Given the description of an element on the screen output the (x, y) to click on. 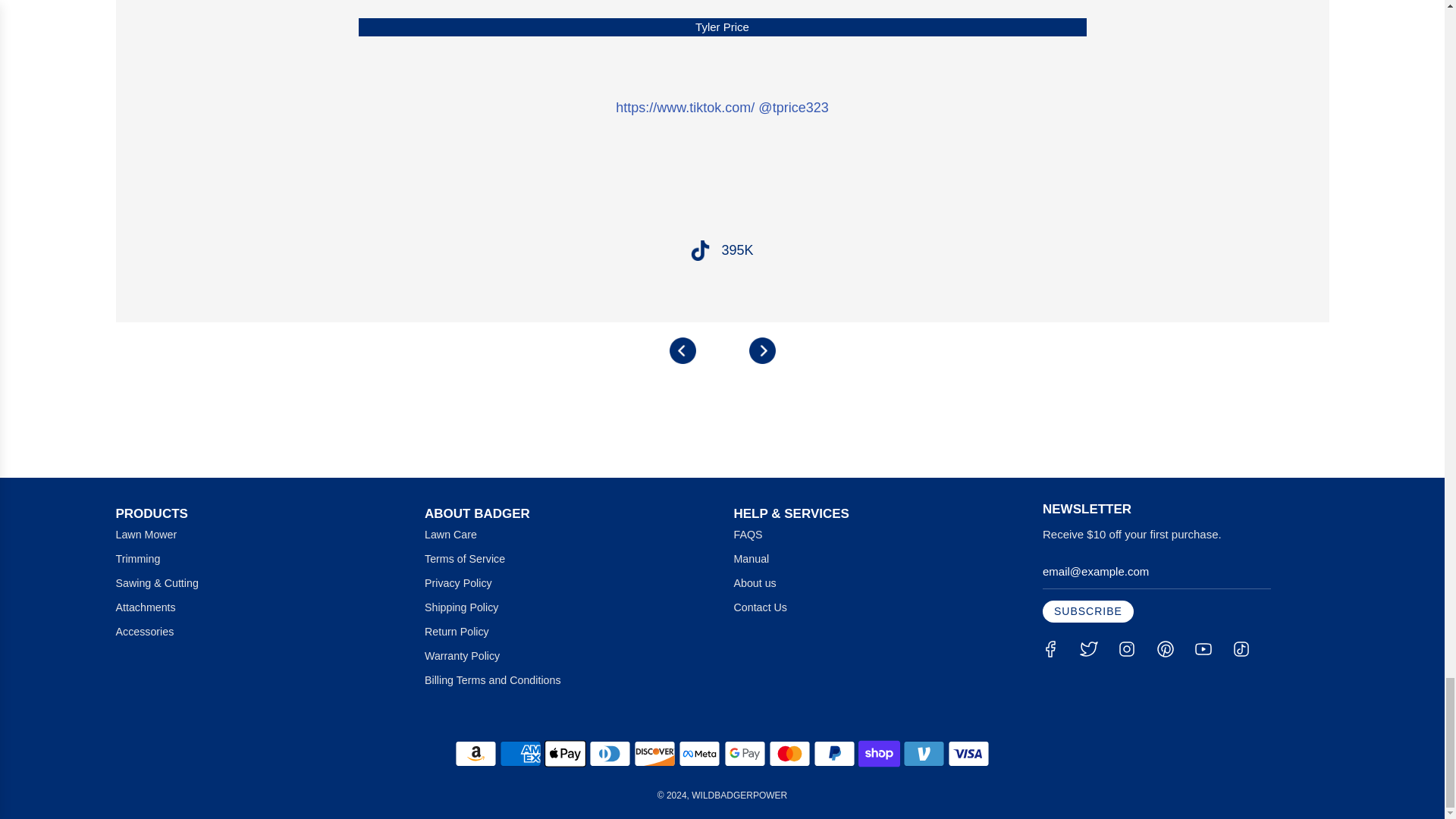
Apple Pay (565, 753)
Subscribe (1088, 611)
Diners Club (609, 753)
Amazon (475, 753)
American Express (520, 753)
